Given the description of an element on the screen output the (x, y) to click on. 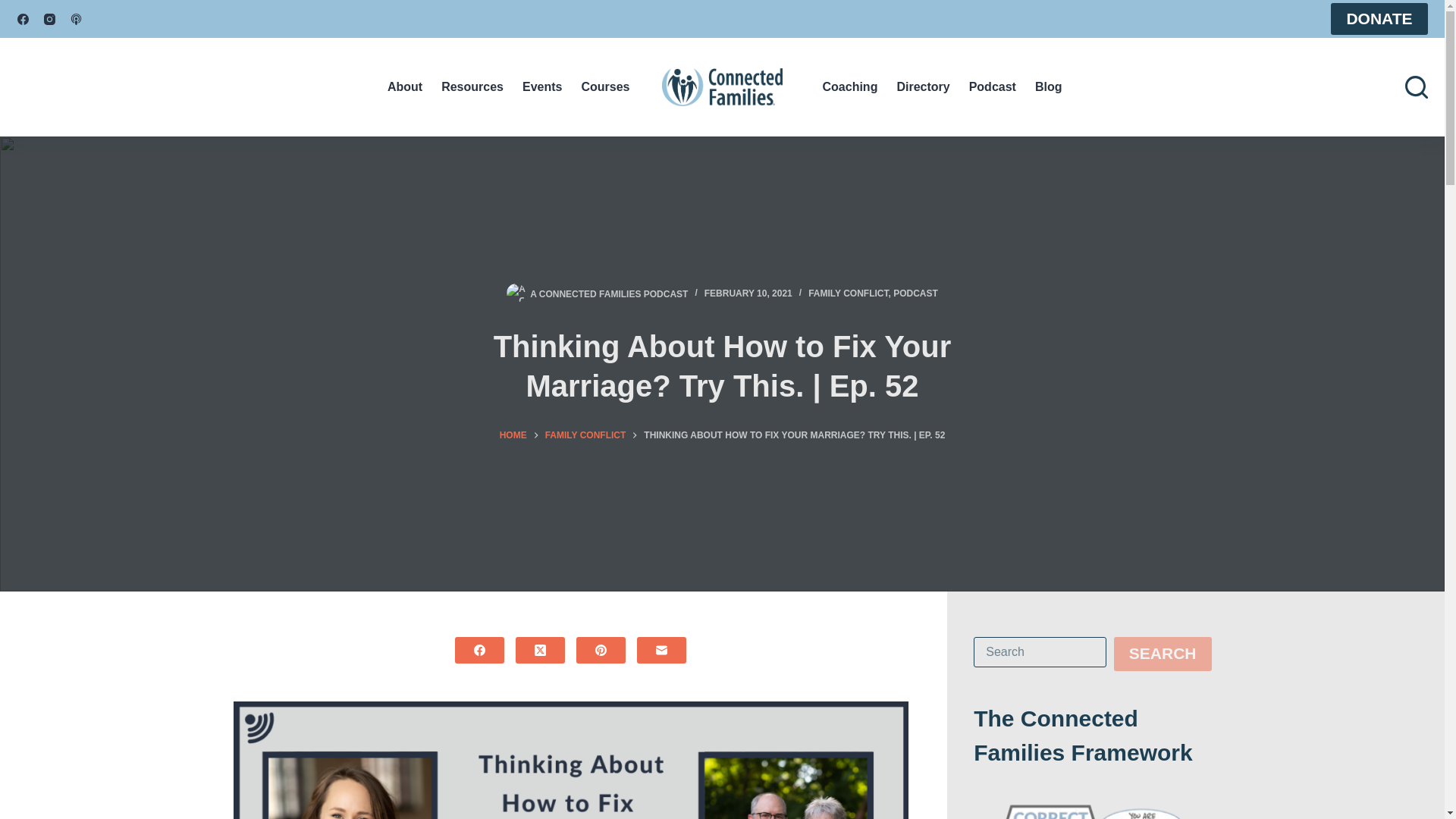
Skip to content (15, 7)
FAMILY CONFLICT (848, 293)
FAMILY CONFLICT (585, 435)
DONATE (1378, 19)
HOME (513, 435)
Posts by A Connected Families Podcast (608, 293)
PODCAST (915, 293)
A CONNECTED FAMILIES PODCAST (608, 293)
